Given the description of an element on the screen output the (x, y) to click on. 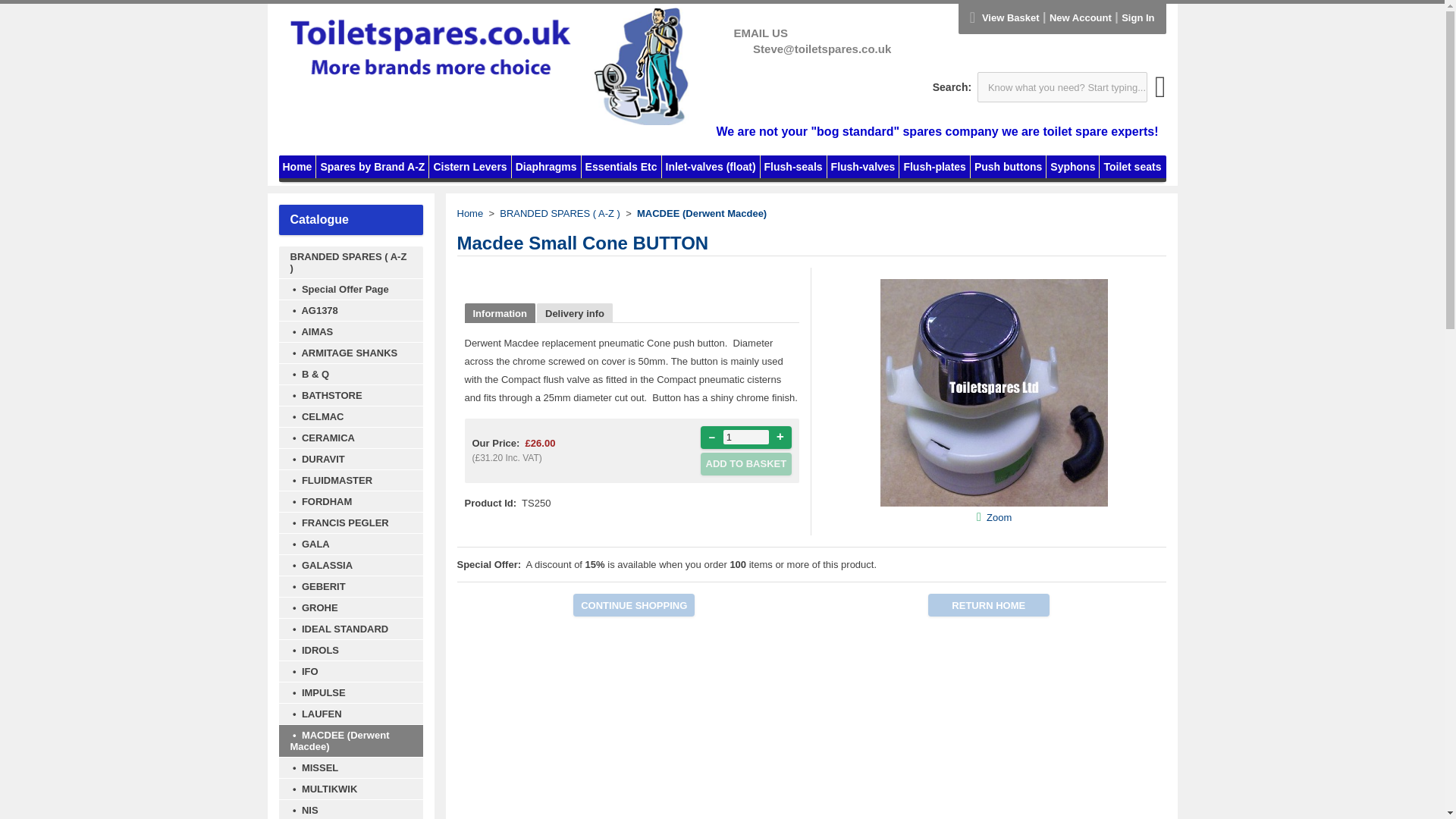
Zoom (994, 392)
Go (1160, 92)
Macdee Small Cone BUTTON (999, 516)
1 (745, 436)
Macdee Small Cone BUTTON (994, 502)
Customer reviews powered by Trustpilot (438, 132)
